Given the description of an element on the screen output the (x, y) to click on. 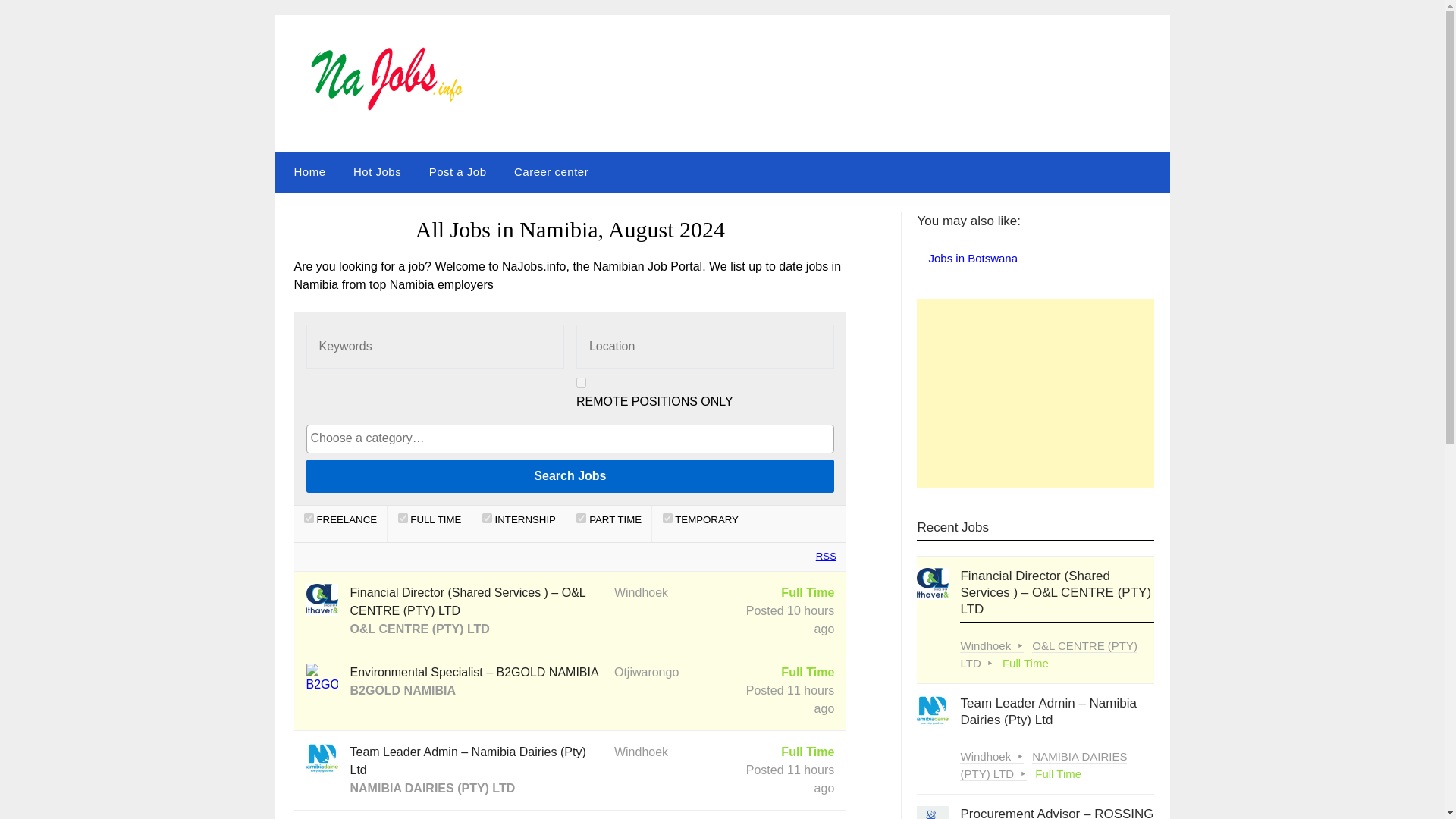
Jobs in Botswana (972, 257)
Home (306, 171)
Post a Job (457, 171)
full-time (402, 518)
Career center (550, 171)
freelance (309, 518)
temporary (667, 518)
Search Jobs (569, 476)
Advertisement (1035, 393)
internship (486, 518)
RSS (821, 556)
part-time (581, 518)
Search Jobs (569, 476)
1 (581, 382)
Hot Jobs (376, 171)
